Given the description of an element on the screen output the (x, y) to click on. 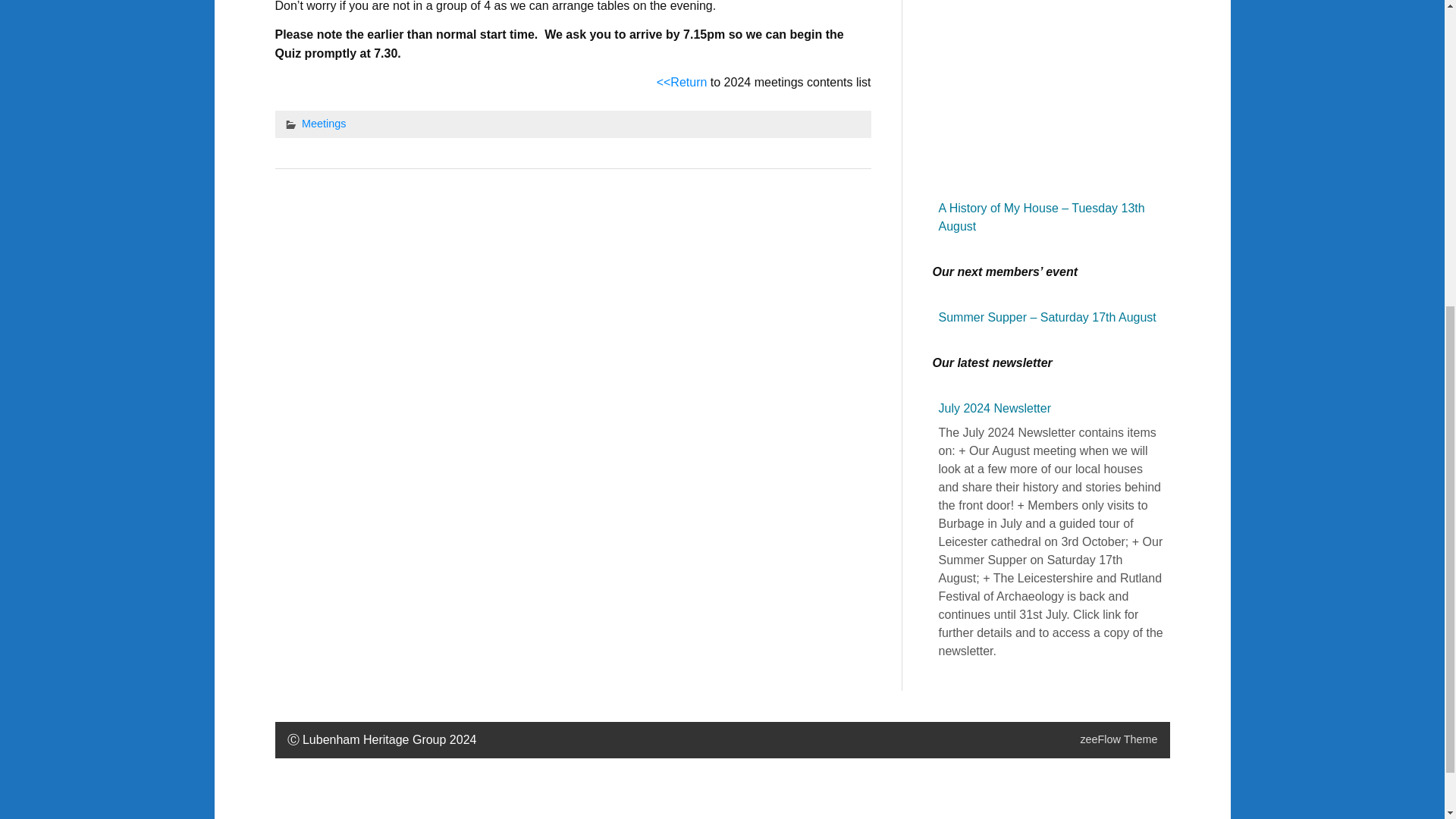
Meetings (323, 123)
July 2024 Newsletter (995, 408)
zeeFlow Theme (1118, 739)
